Given the description of an element on the screen output the (x, y) to click on. 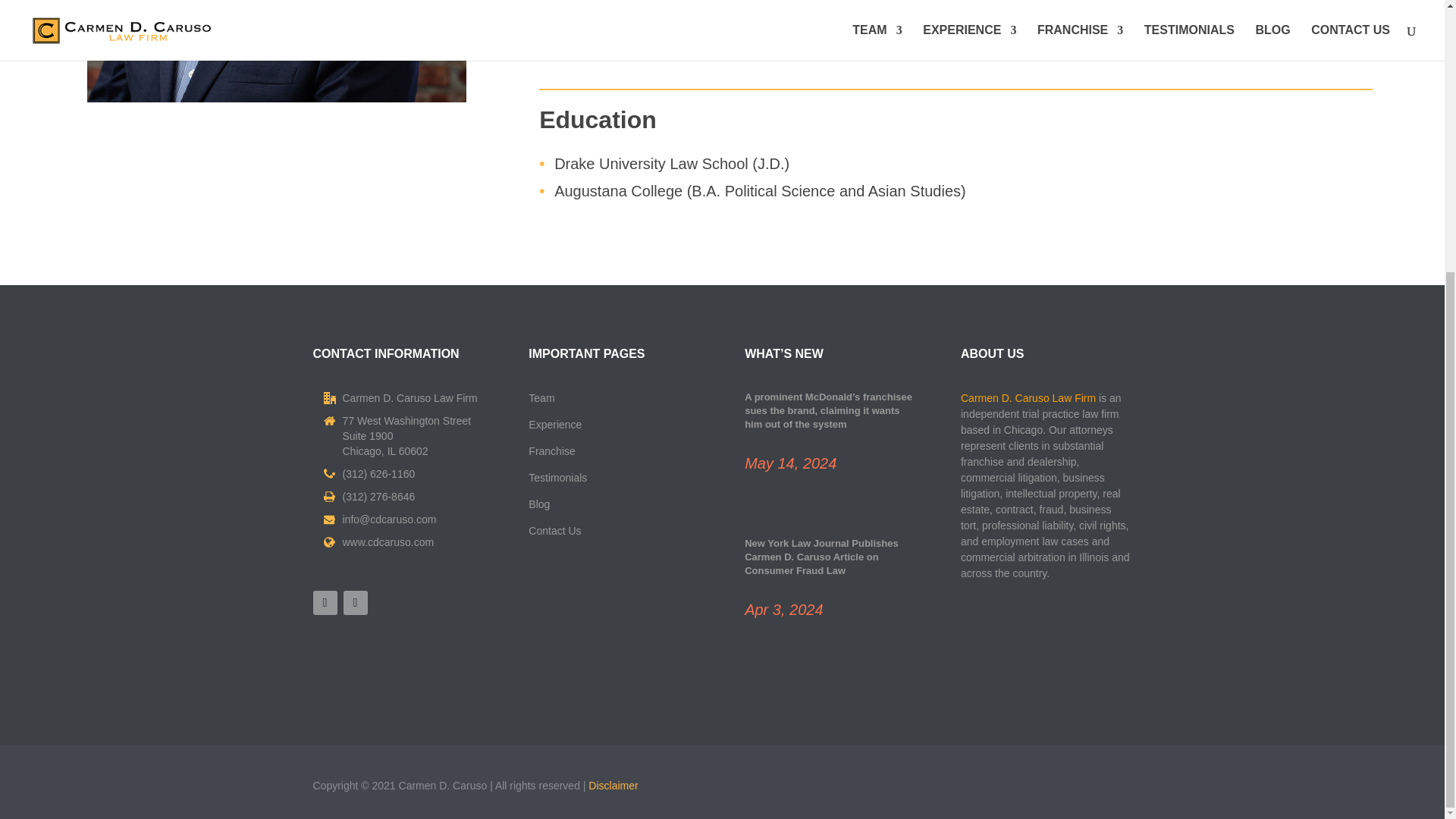
Team (541, 398)
Follow on Facebook (324, 602)
Follow on LinkedIn (354, 602)
Testimonials (557, 477)
Blog (539, 503)
Gage-Meyers (276, 51)
Franchise (551, 451)
Experience (554, 424)
